Given the description of an element on the screen output the (x, y) to click on. 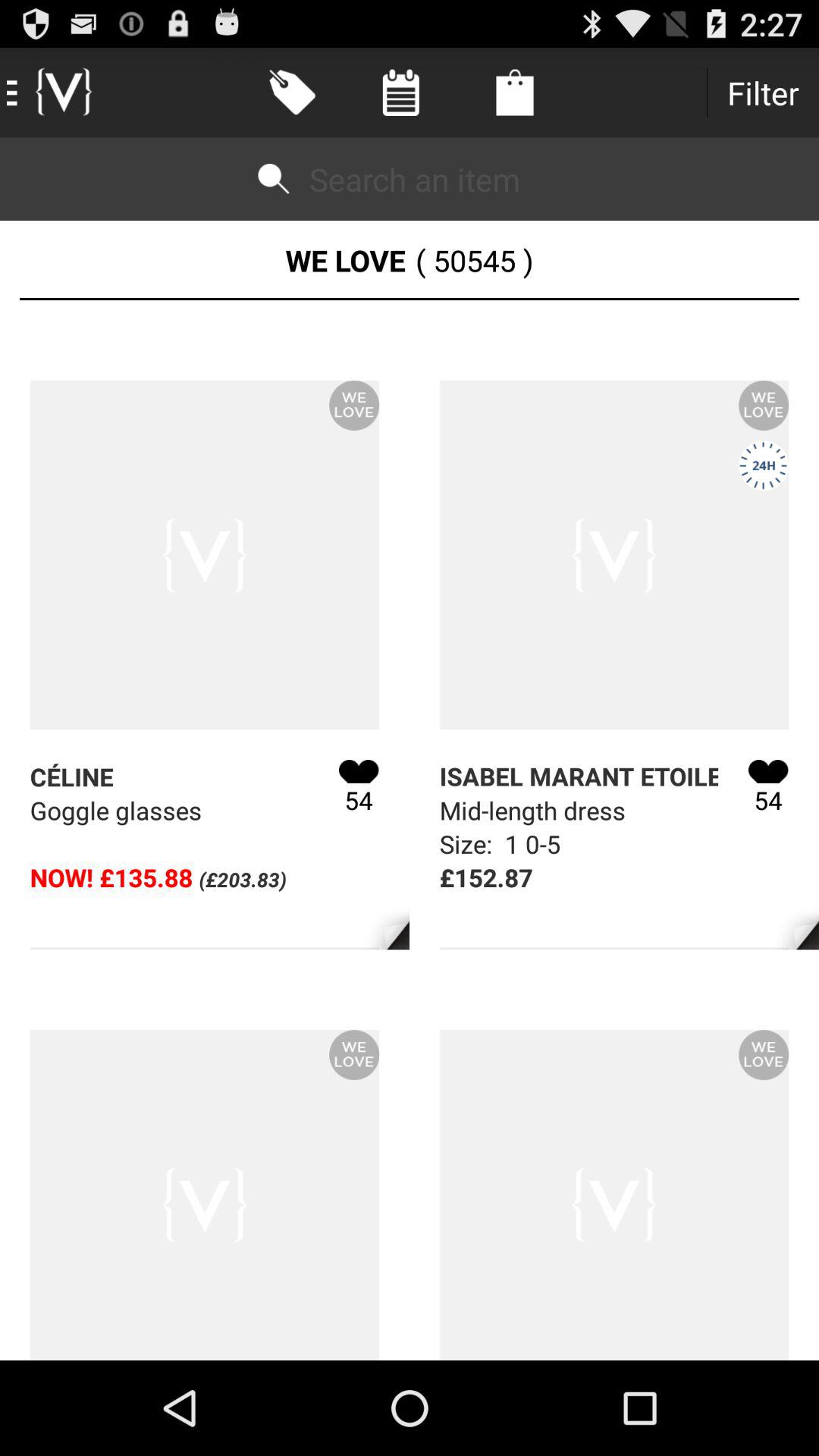
click on the bag icon (514, 92)
click on the my wishlist  icon beside text celine (359, 771)
click on the 2nd icon to the left side from filter (401, 92)
click on the button which is left side of the calendar (292, 92)
